Given the description of an element on the screen output the (x, y) to click on. 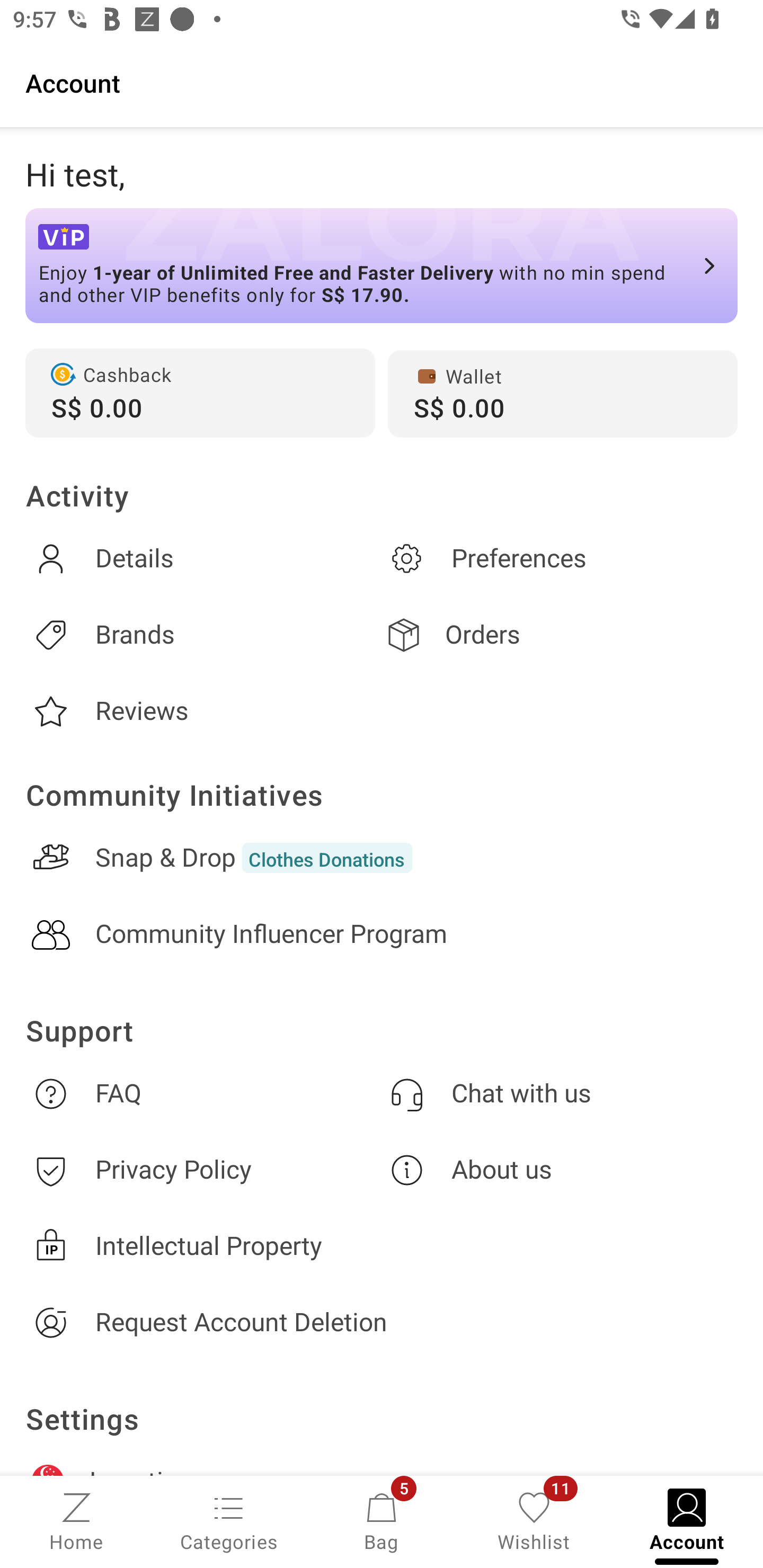
Account (381, 82)
Details (203, 558)
Preferences (559, 558)
Brands (203, 634)
Orders (559, 634)
Reviews (203, 710)
Snap & DropClothes Donations (381, 858)
Community Influencer Program (381, 934)
FAQ (203, 1093)
Chat with us (559, 1093)
Privacy Policy (203, 1170)
About us (559, 1170)
Intellectual Property (381, 1246)
Request Account Deletion (381, 1322)
Home (76, 1519)
Categories (228, 1519)
Bag, 5 new notifications Bag (381, 1519)
Wishlist, 11 new notifications Wishlist (533, 1519)
